Given the description of an element on the screen output the (x, y) to click on. 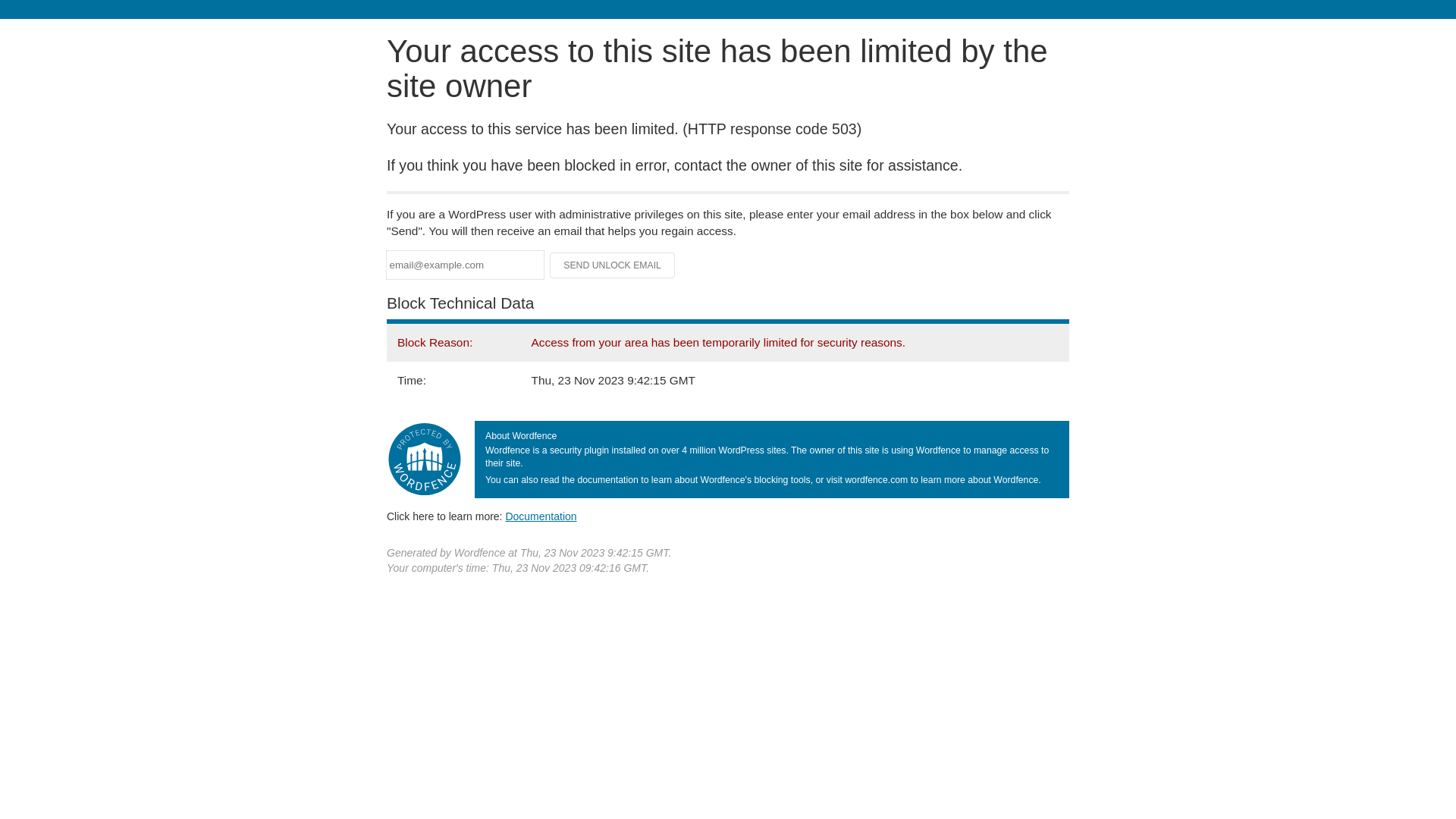
Documentation Element type: text (540, 516)
Send Unlock Email Element type: text (612, 265)
